Given the description of an element on the screen output the (x, y) to click on. 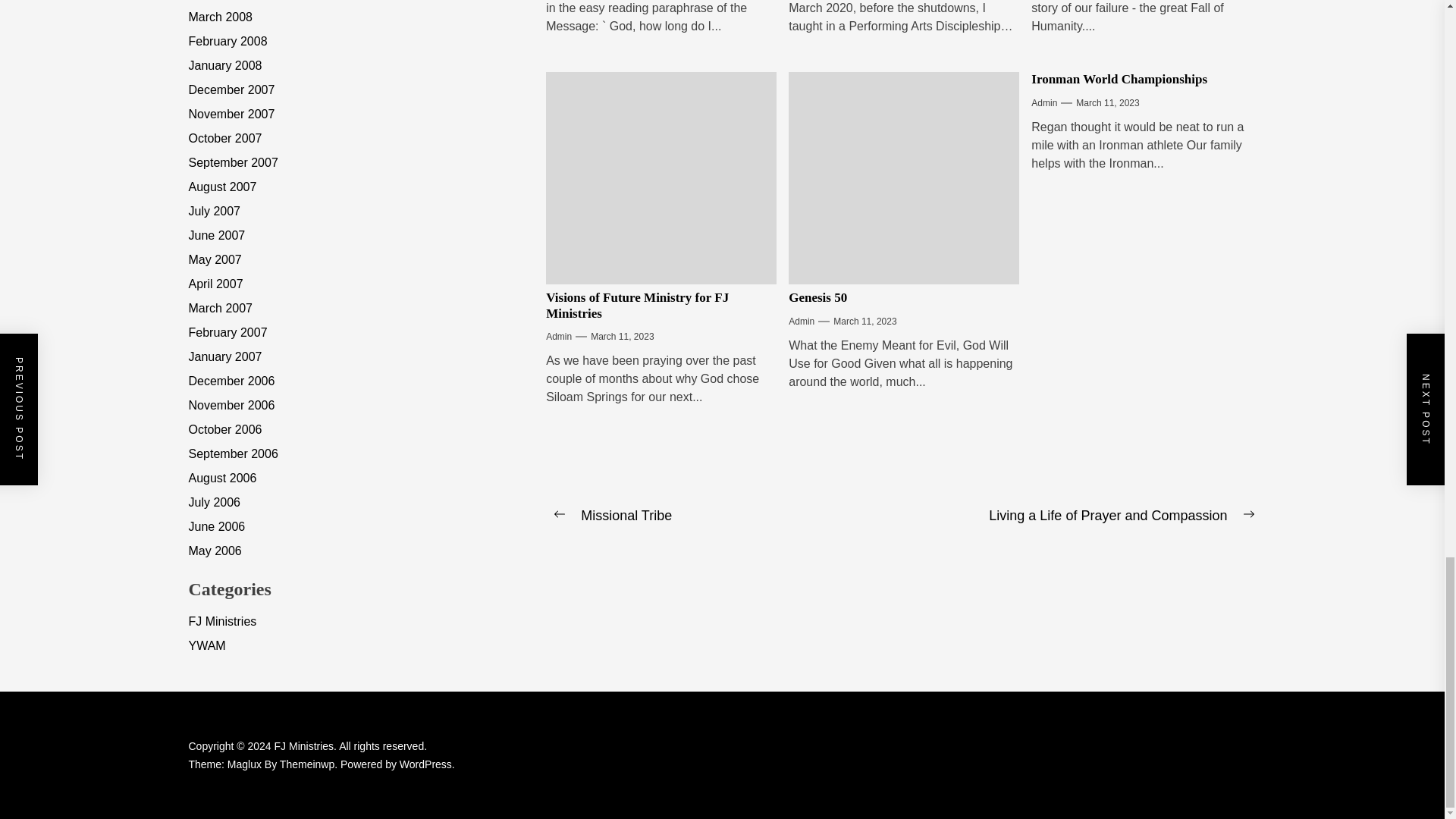
FJ Ministries (307, 746)
WordPress (426, 764)
Themeinwp (309, 764)
